Given the description of an element on the screen output the (x, y) to click on. 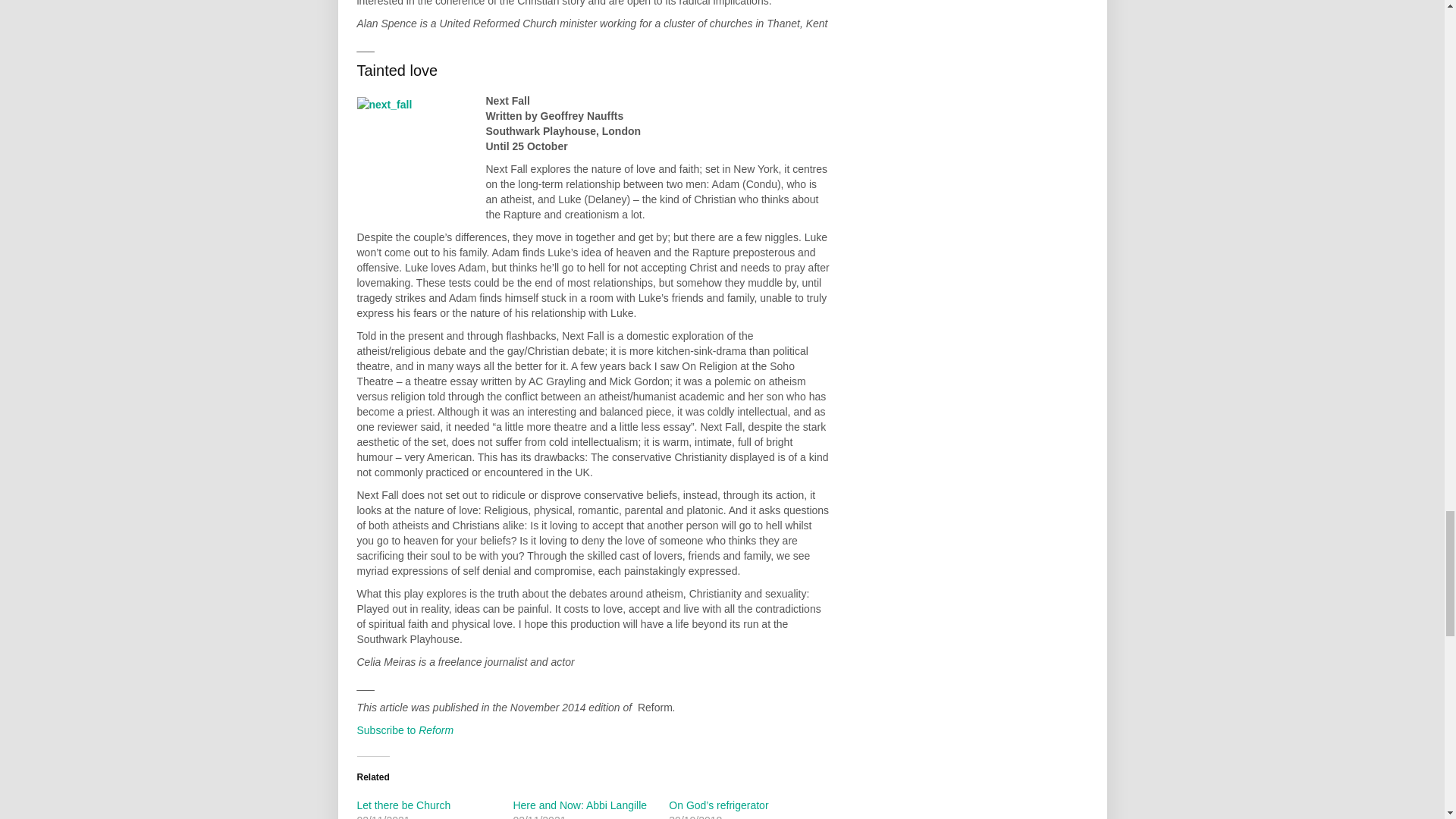
Here and Now: Abbi Langille (579, 805)
Subscribe (404, 729)
Let there be Church (402, 805)
